Given the description of an element on the screen output the (x, y) to click on. 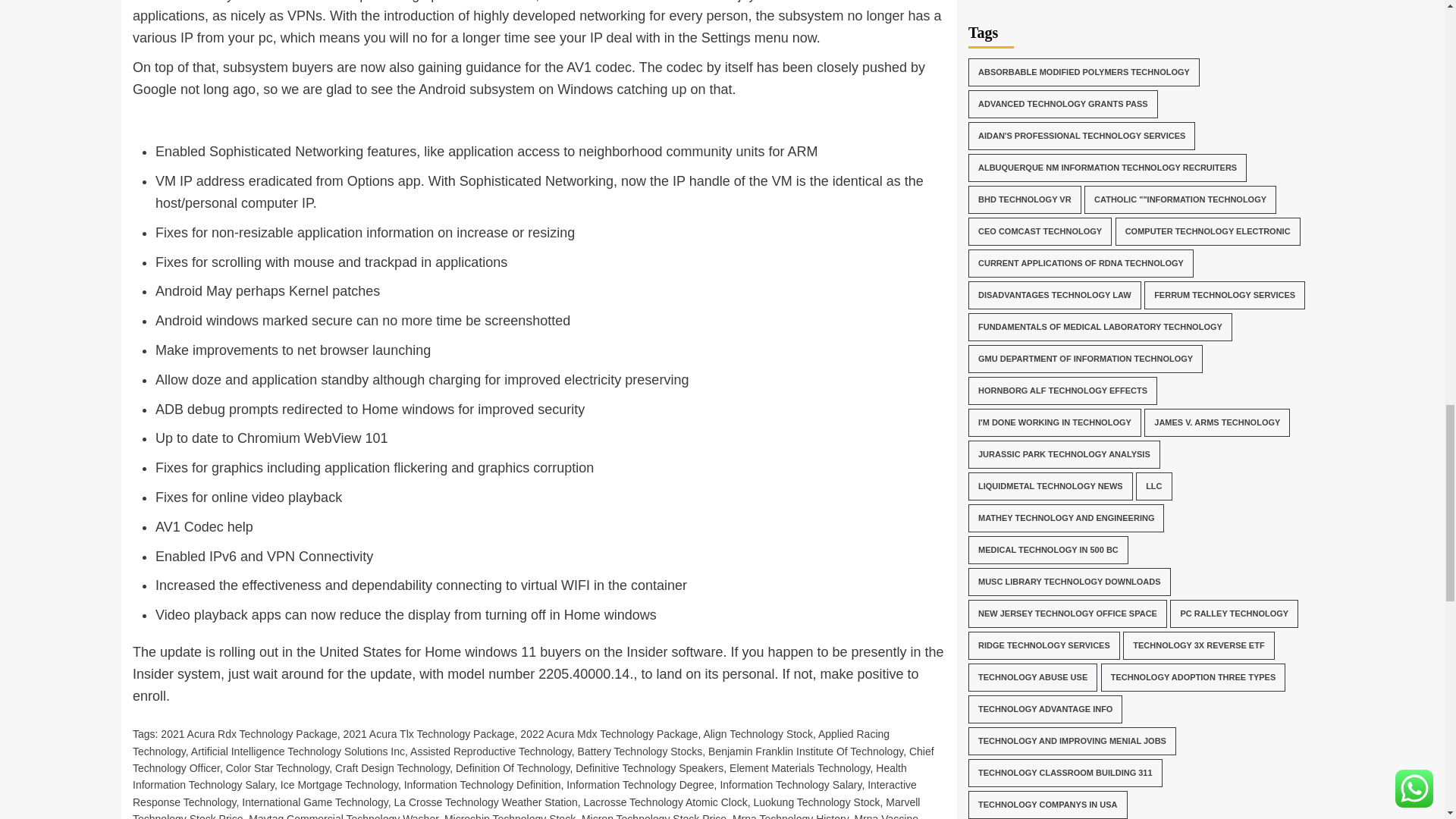
Chief Technology Officer (533, 759)
2022 Acura Mdx Technology Package (608, 734)
Health Information Technology Salary (519, 776)
Benjamin Franklin Institute Of Technology (804, 751)
Definition Of Technology (512, 767)
Align Technology Stock (757, 734)
Battery Technology Stocks (640, 751)
Artificial Intelligence Technology Solutions Inc (297, 751)
Assisted Reproductive Technology (491, 751)
Definitive Technology Speakers (649, 767)
Applied Racing Technology (510, 742)
2021 Acura Tlx Technology Package (429, 734)
Element Materials Technology (799, 767)
Ice Mortgage Technology (339, 784)
Color Star Technology (277, 767)
